Given the description of an element on the screen output the (x, y) to click on. 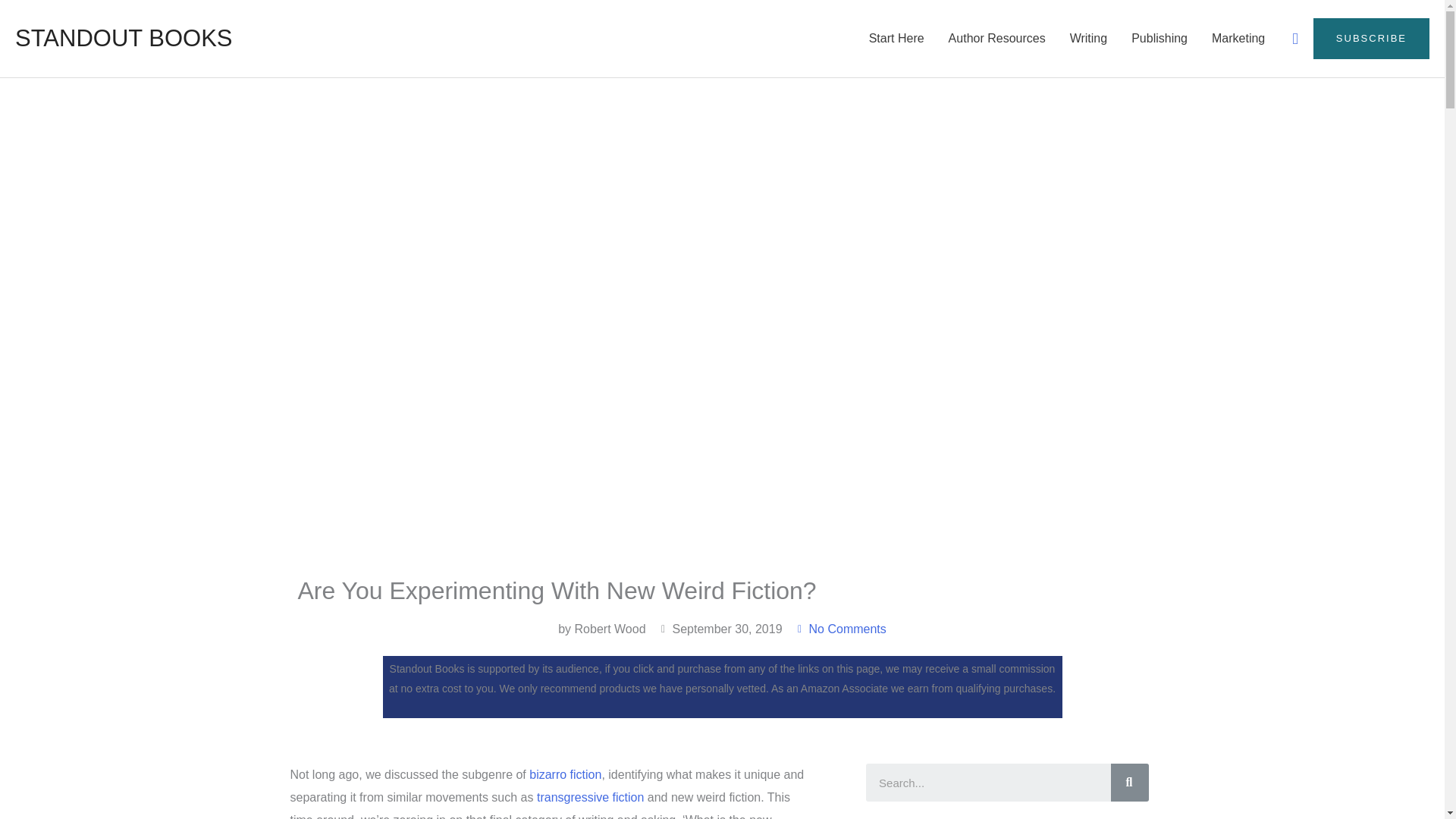
Writing (1088, 38)
Search (987, 782)
SUBSCRIBE (1371, 38)
Start Here (896, 38)
bizarro fiction (565, 774)
Search (1129, 782)
Author Resources (997, 38)
STANDOUT BOOKS (123, 38)
No Comments (840, 629)
Marketing (1237, 38)
transgressive fiction (590, 797)
Publishing (1159, 38)
